Given the description of an element on the screen output the (x, y) to click on. 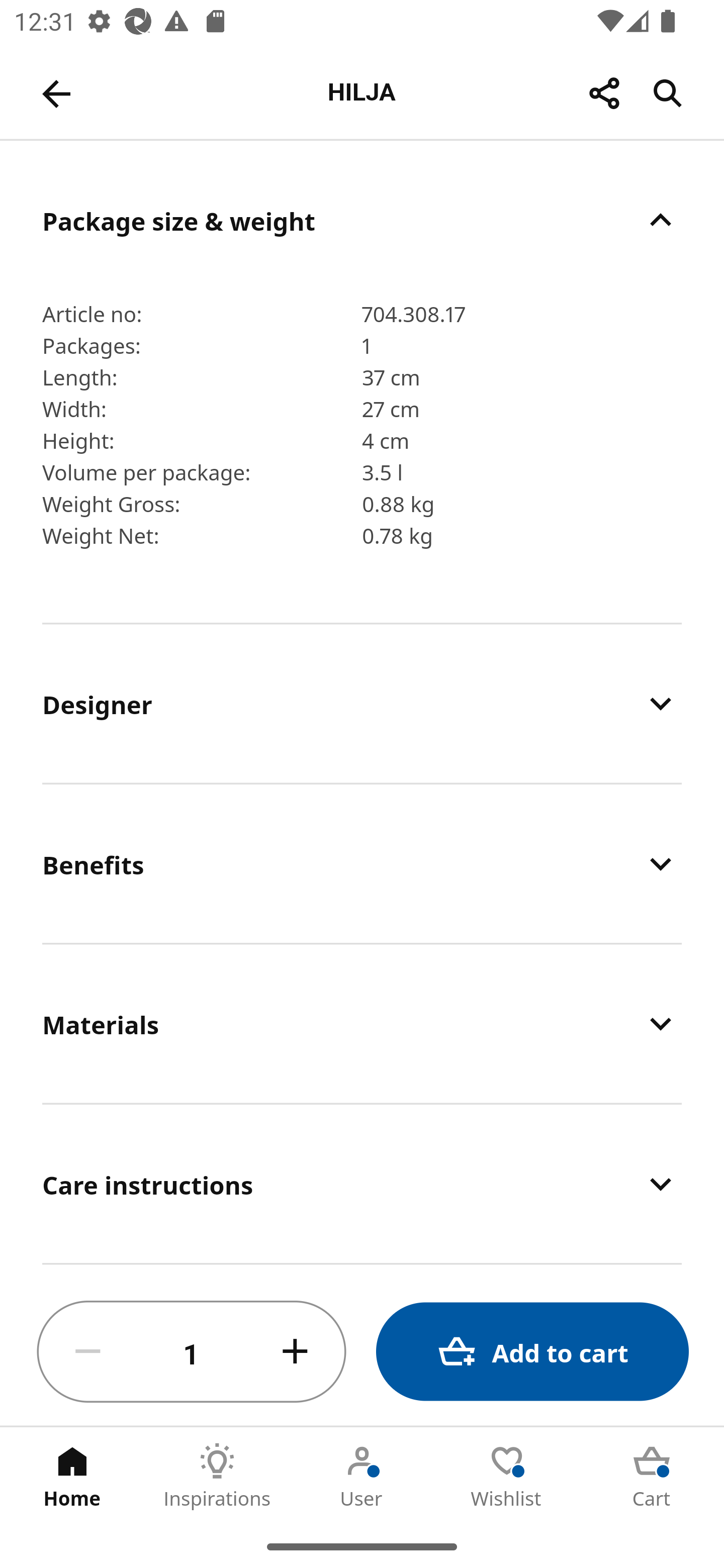
Package size & weight (361, 219)
Designer (361, 702)
Benefits (361, 863)
Materials (361, 1023)
Care instructions (361, 1183)
Add to cart (531, 1352)
1 (191, 1352)
Home
Tab 1 of 5 (72, 1476)
Inspirations
Tab 2 of 5 (216, 1476)
User
Tab 3 of 5 (361, 1476)
Wishlist
Tab 4 of 5 (506, 1476)
Cart
Tab 5 of 5 (651, 1476)
